Given the description of an element on the screen output the (x, y) to click on. 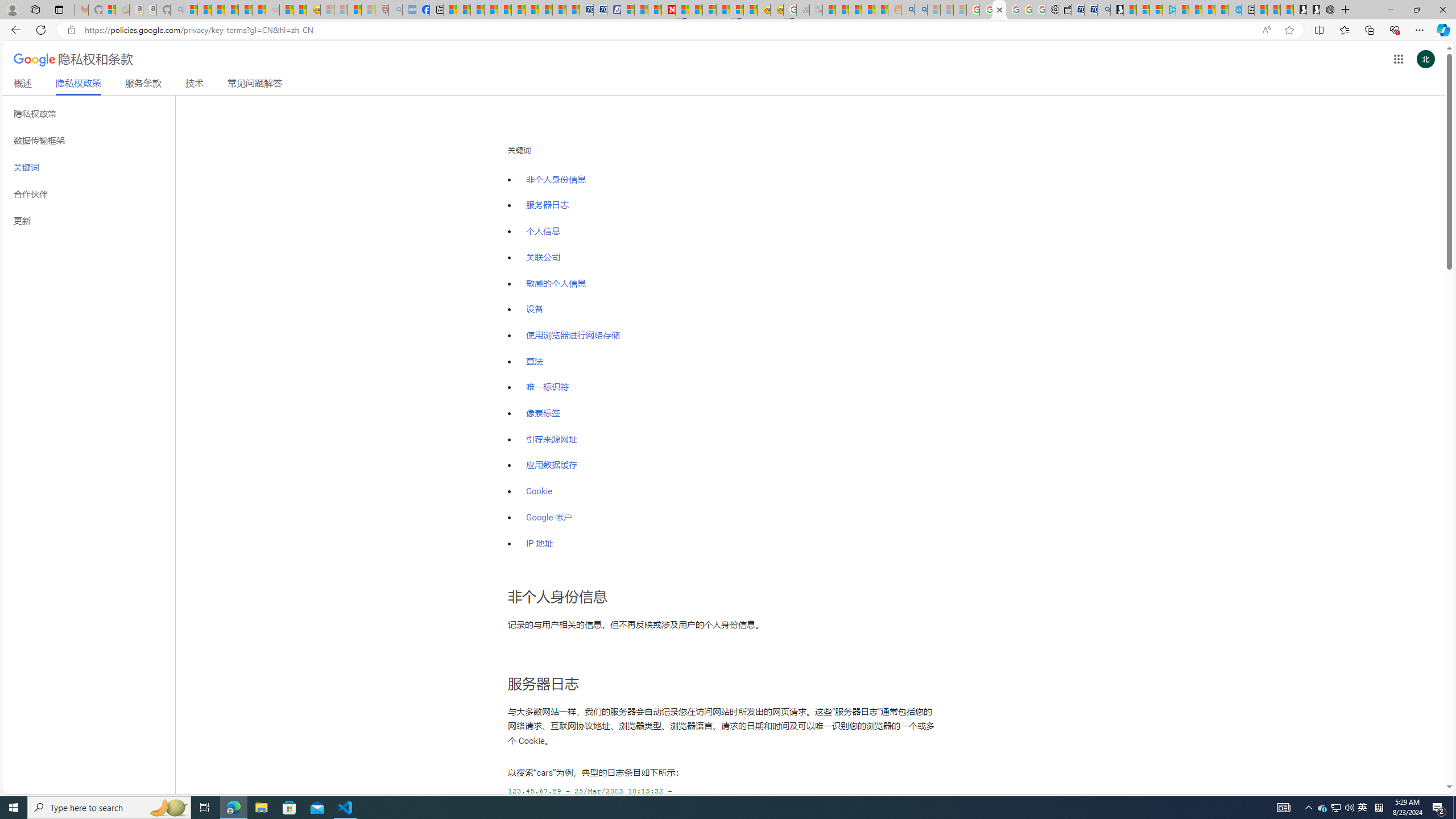
Combat Siege - Sleeping (271, 9)
